Given the description of an element on the screen output the (x, y) to click on. 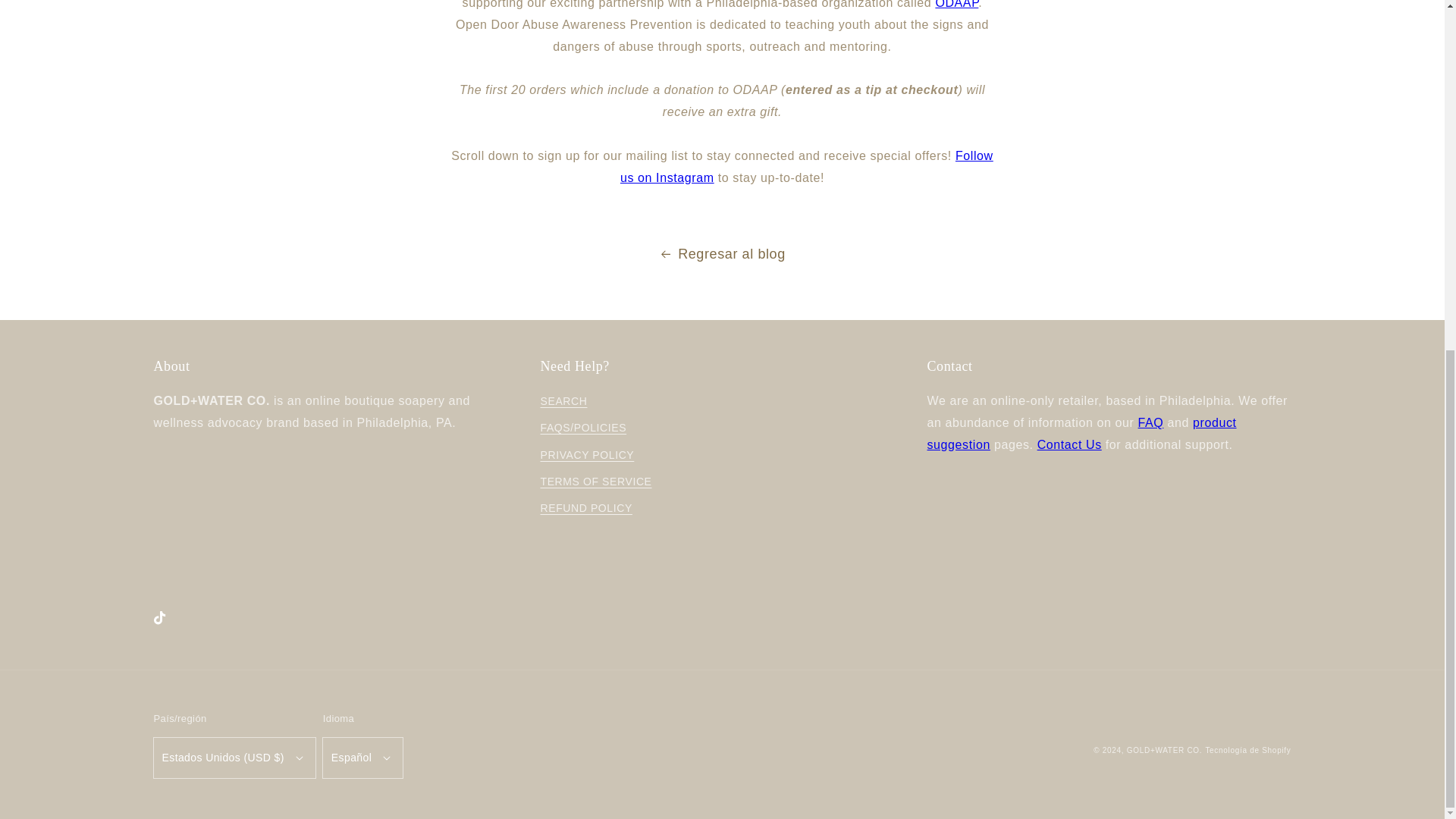
CONTACT US (1069, 444)
ODAAP (956, 4)
PRODUCT CARE SUGGESTIONS (1081, 433)
